Given the description of an element on the screen output the (x, y) to click on. 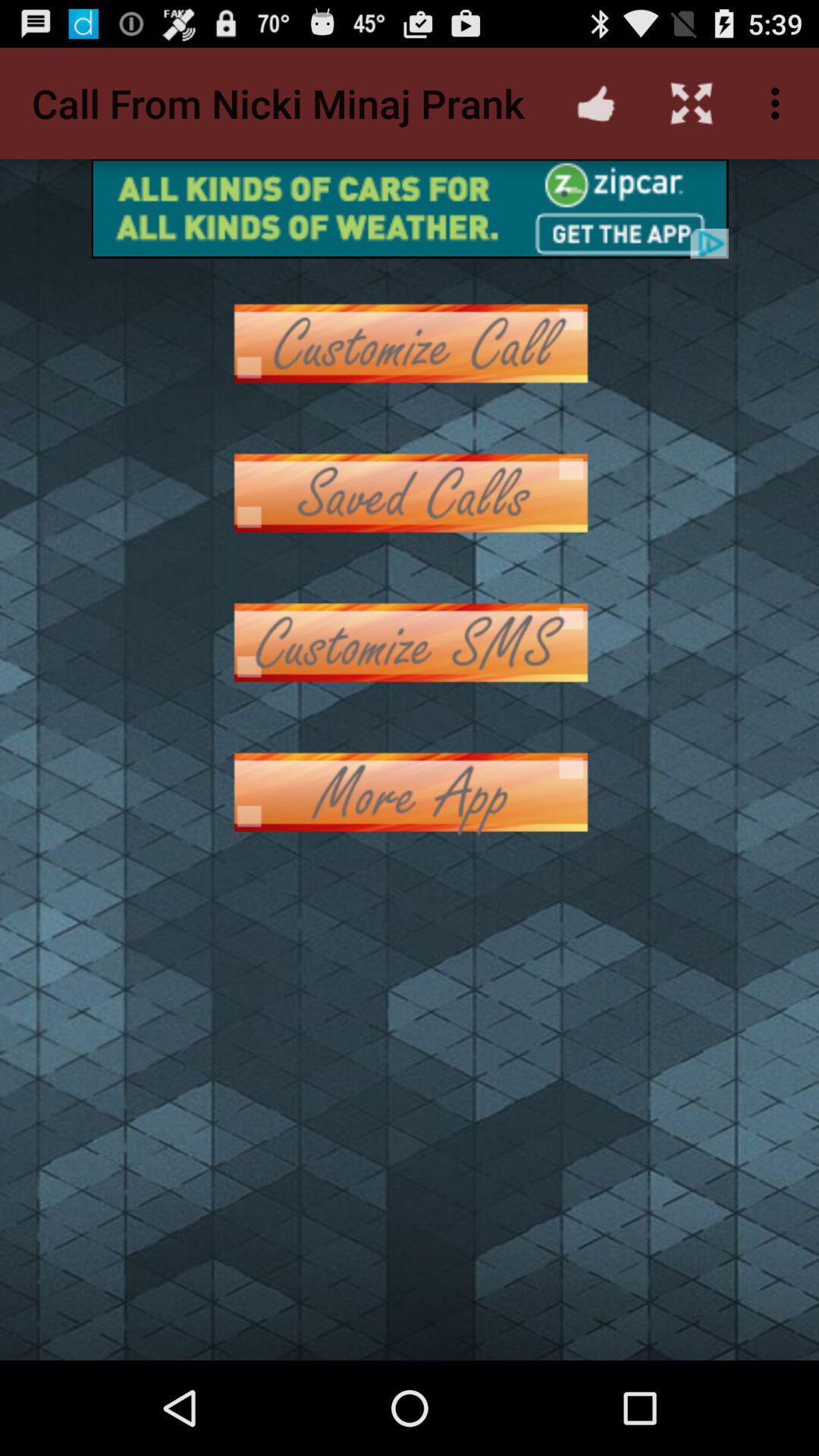
more options (409, 792)
